Given the description of an element on the screen output the (x, y) to click on. 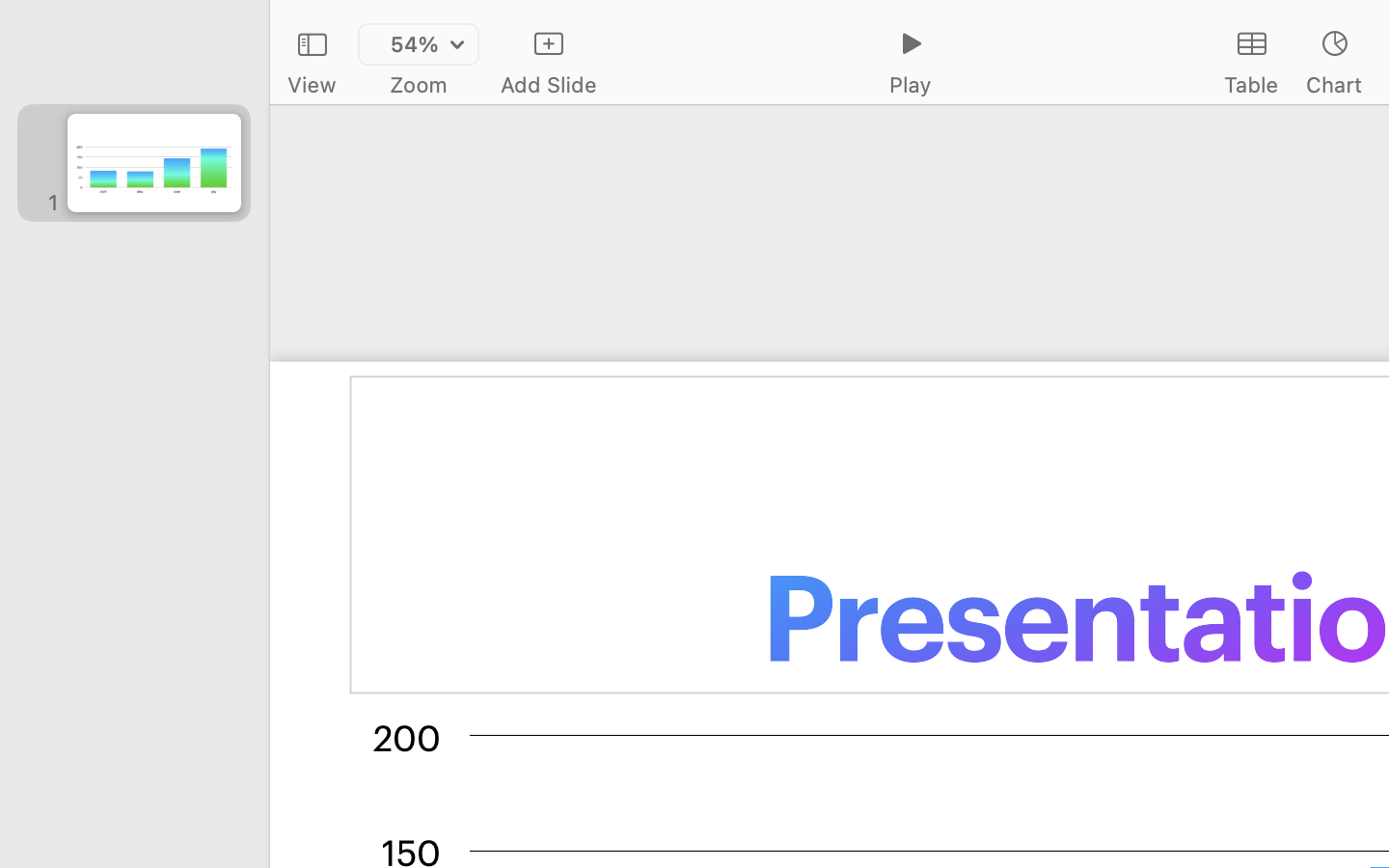
Zoom Element type: AXStaticText (418, 84)
View Element type: AXStaticText (311, 84)
